Given the description of an element on the screen output the (x, y) to click on. 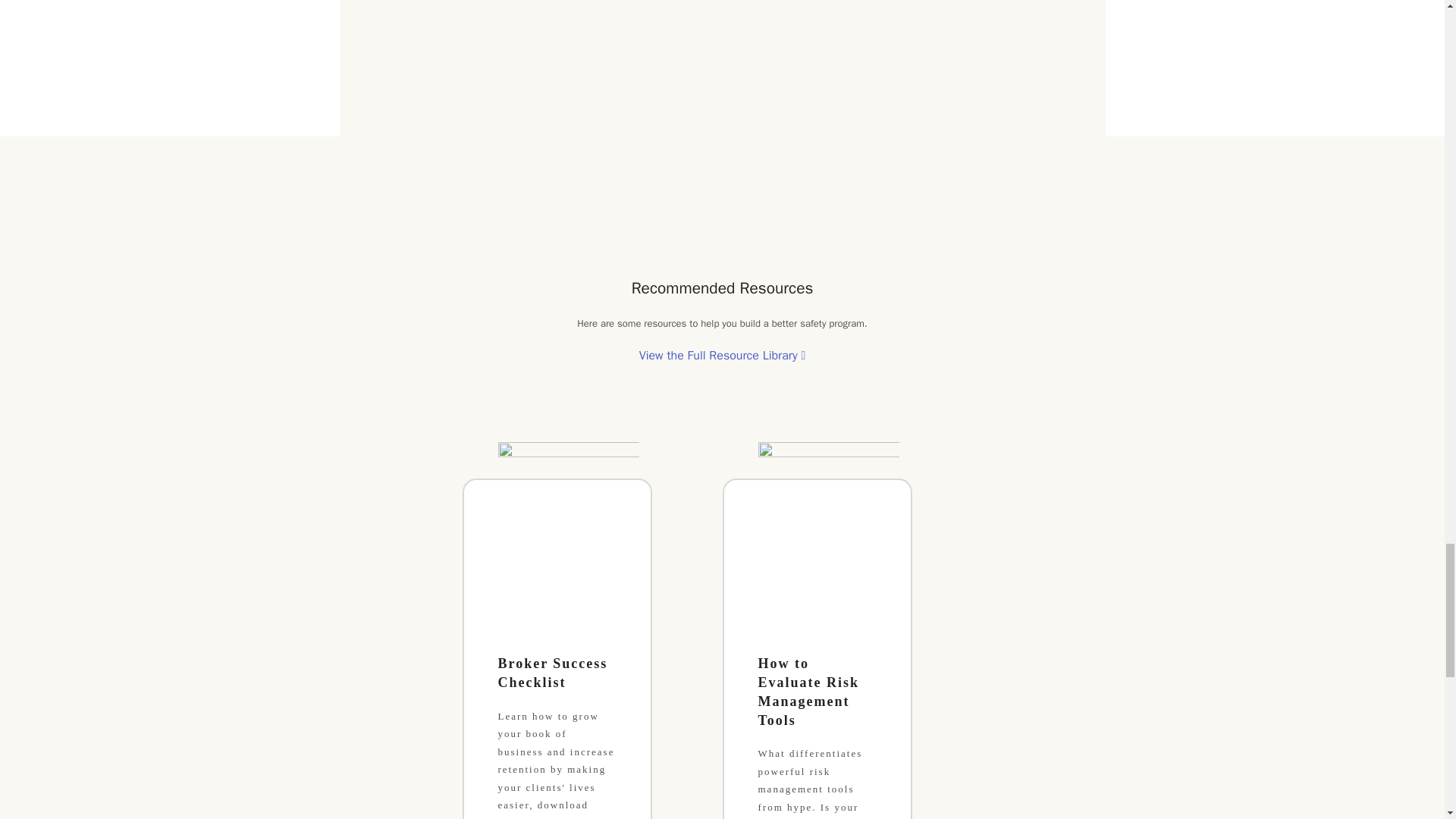
how-to-evaluate-risk-management-tools (828, 479)
broker success checklist (568, 479)
